Given the description of an element on the screen output the (x, y) to click on. 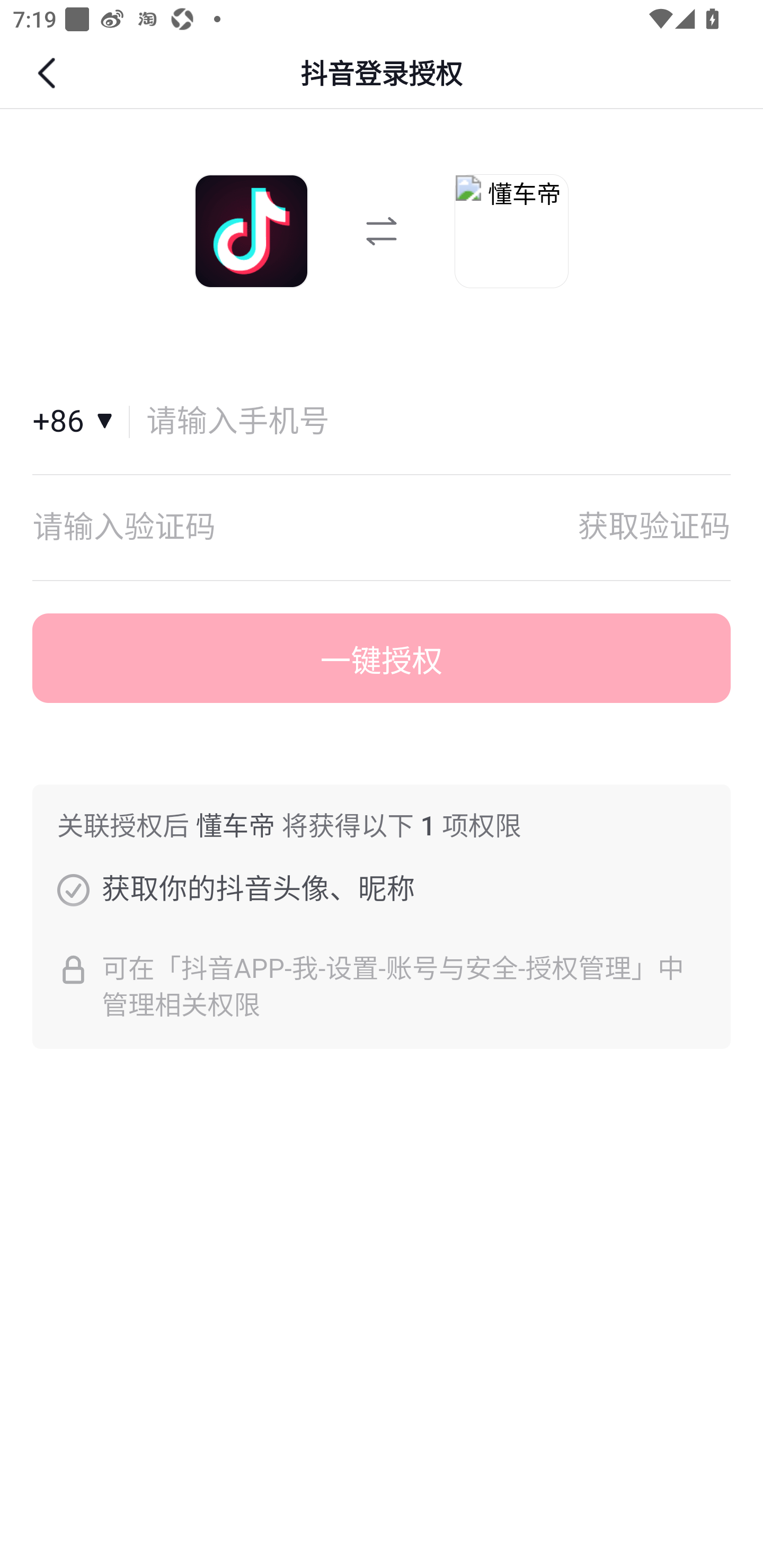
返回 (49, 72)
国家和地区+86 (81, 421)
获取验证码 (653, 526)
一键授权 (381, 658)
获取你的抖音头像、昵称 (72, 889)
